Given the description of an element on the screen output the (x, y) to click on. 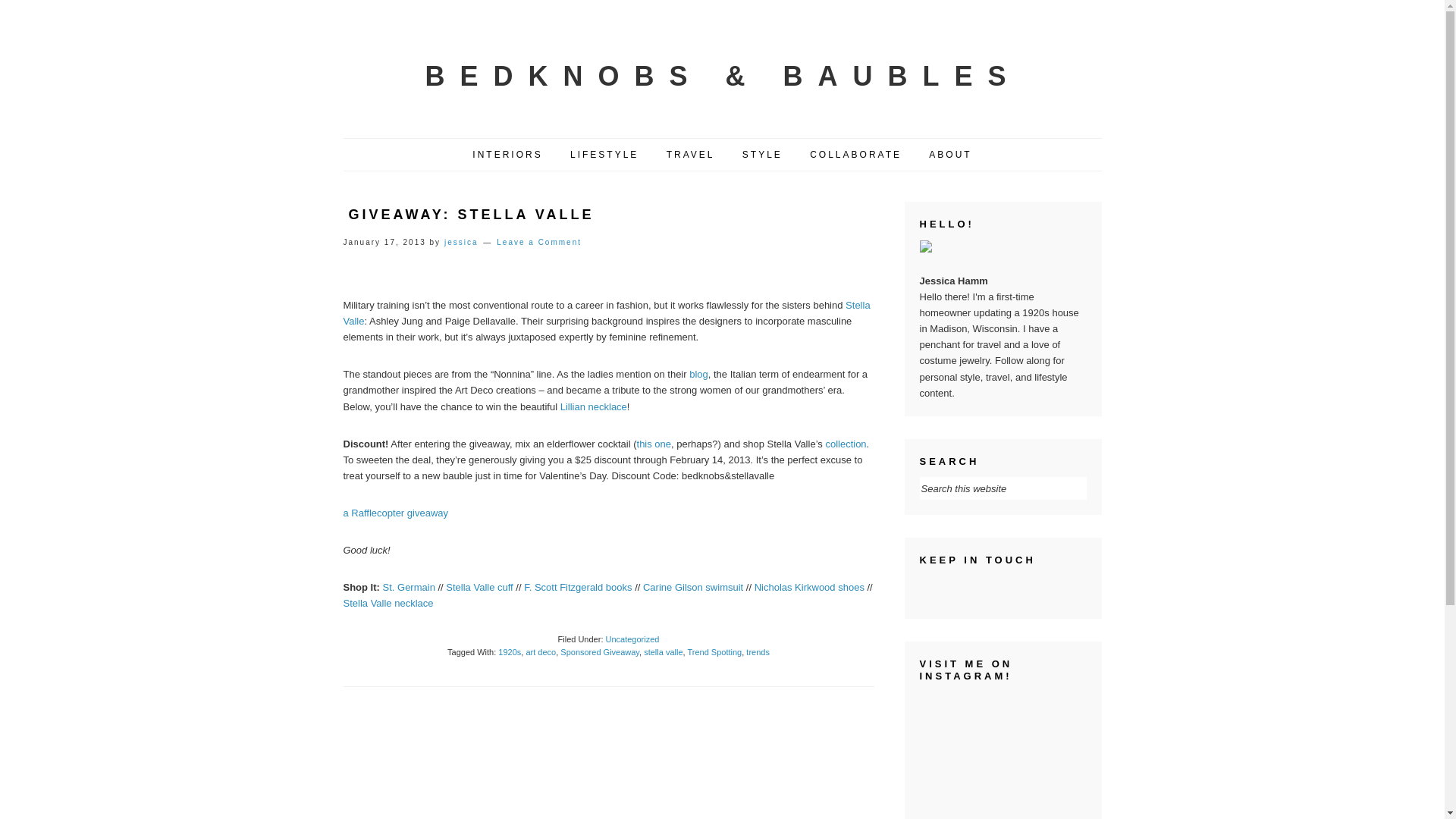
COLLABORATE (854, 154)
Nicholas Kirkwood shoes (809, 586)
this one (654, 443)
Sponsored Giveaway (599, 651)
INTERIORS (507, 154)
Leave a Comment (538, 242)
Uncategorized (632, 638)
Stella Valle necklace (387, 603)
jessica (461, 242)
Trend Spotting (714, 651)
LIFESTYLE (604, 154)
St. Germain (408, 586)
Lillian necklace (593, 406)
F. Scott Fitzgerald books (577, 586)
